Given the description of an element on the screen output the (x, y) to click on. 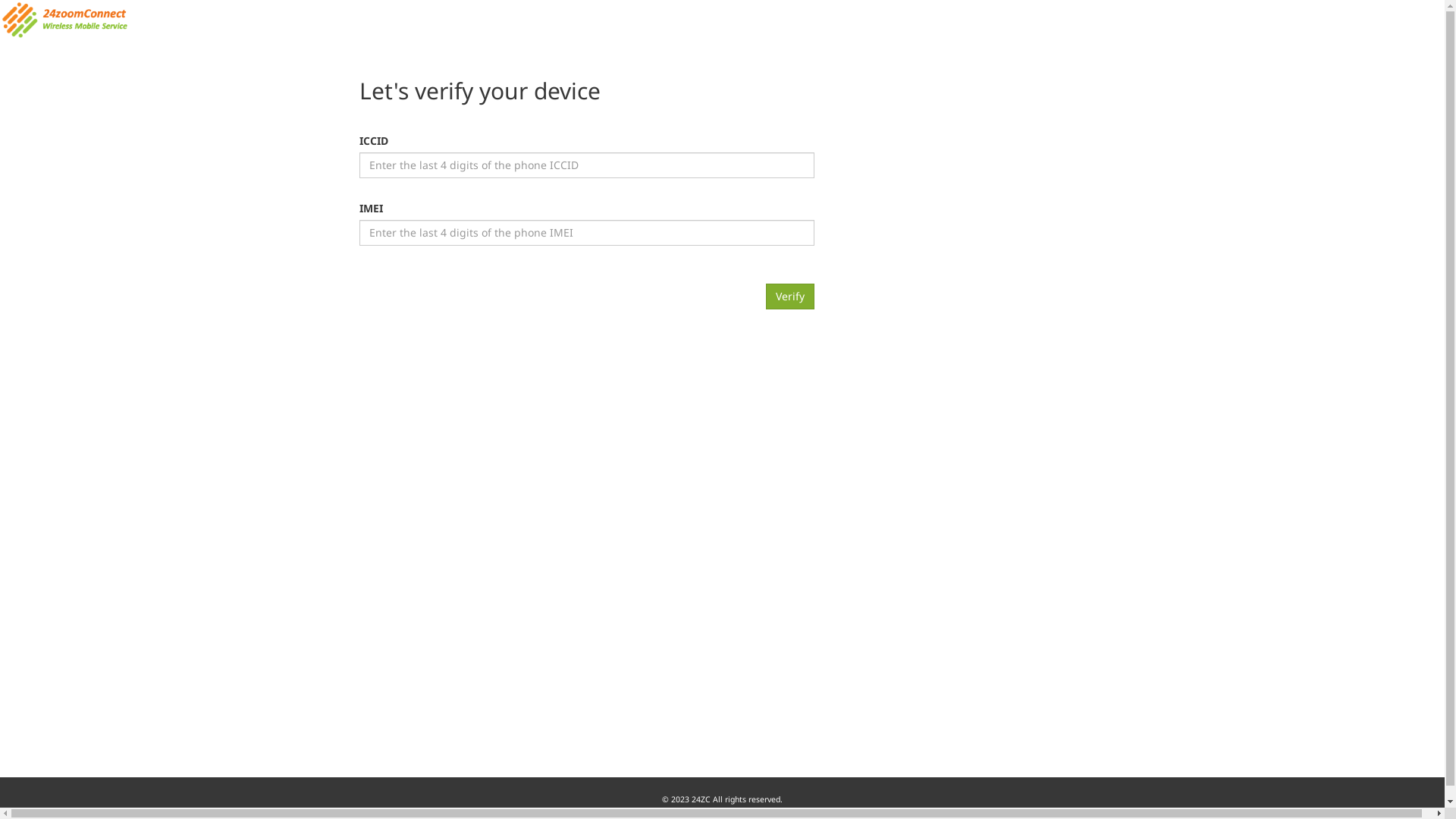
Verify Element type: text (789, 296)
